Given the description of an element on the screen output the (x, y) to click on. 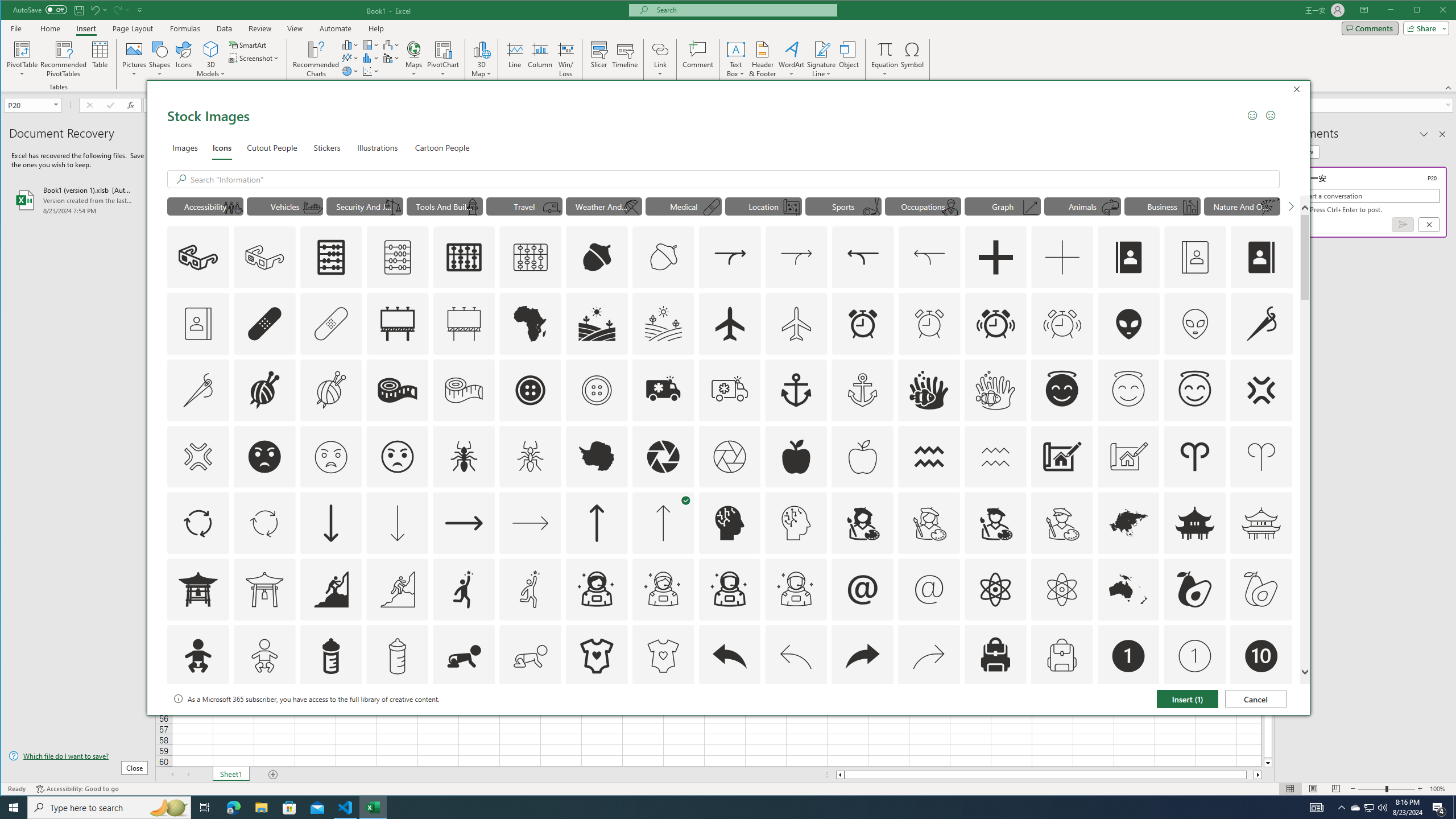
AutomationID: Icons_At_M (928, 589)
"Graph" Icons. (1002, 206)
AutomationID: Icons_Freight_M (312, 207)
AutomationID: Icons_Backpack (995, 655)
Text Box (735, 59)
AutomationID: Icons_AddressBook_LTR_M (1194, 256)
AutomationID: Icons_AddressBook_RTL_M (197, 323)
AutomationID: Icons_Badge2 (264, 721)
AutomationID: Icons_Badge5_M (729, 721)
